Given the description of an element on the screen output the (x, y) to click on. 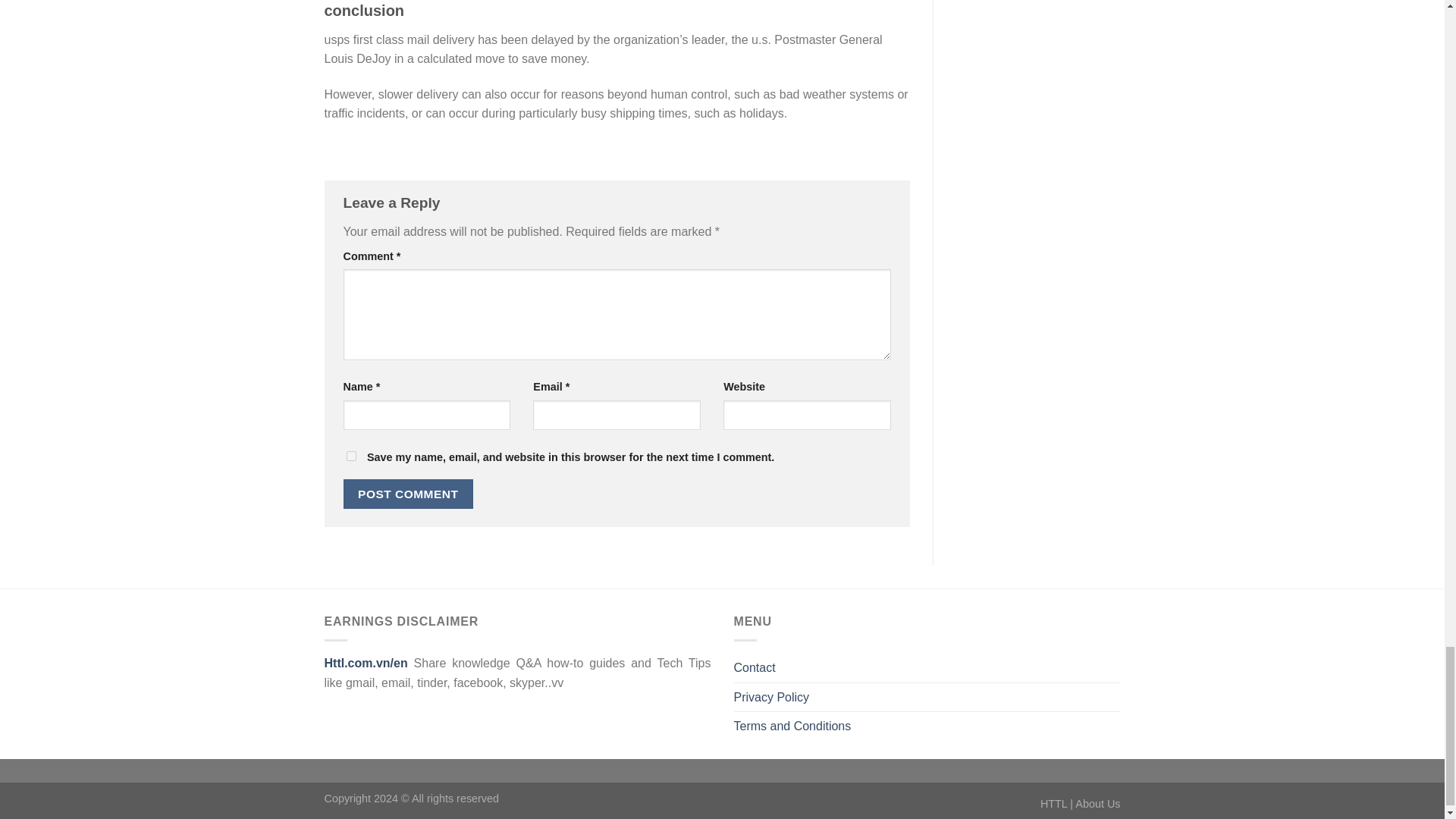
HTTL (1054, 803)
Post Comment (407, 493)
Privacy Policy (771, 696)
Post Comment (407, 493)
About Us (1097, 803)
yes (350, 456)
Contact (754, 667)
Terms and Conditions (792, 726)
